Given the description of an element on the screen output the (x, y) to click on. 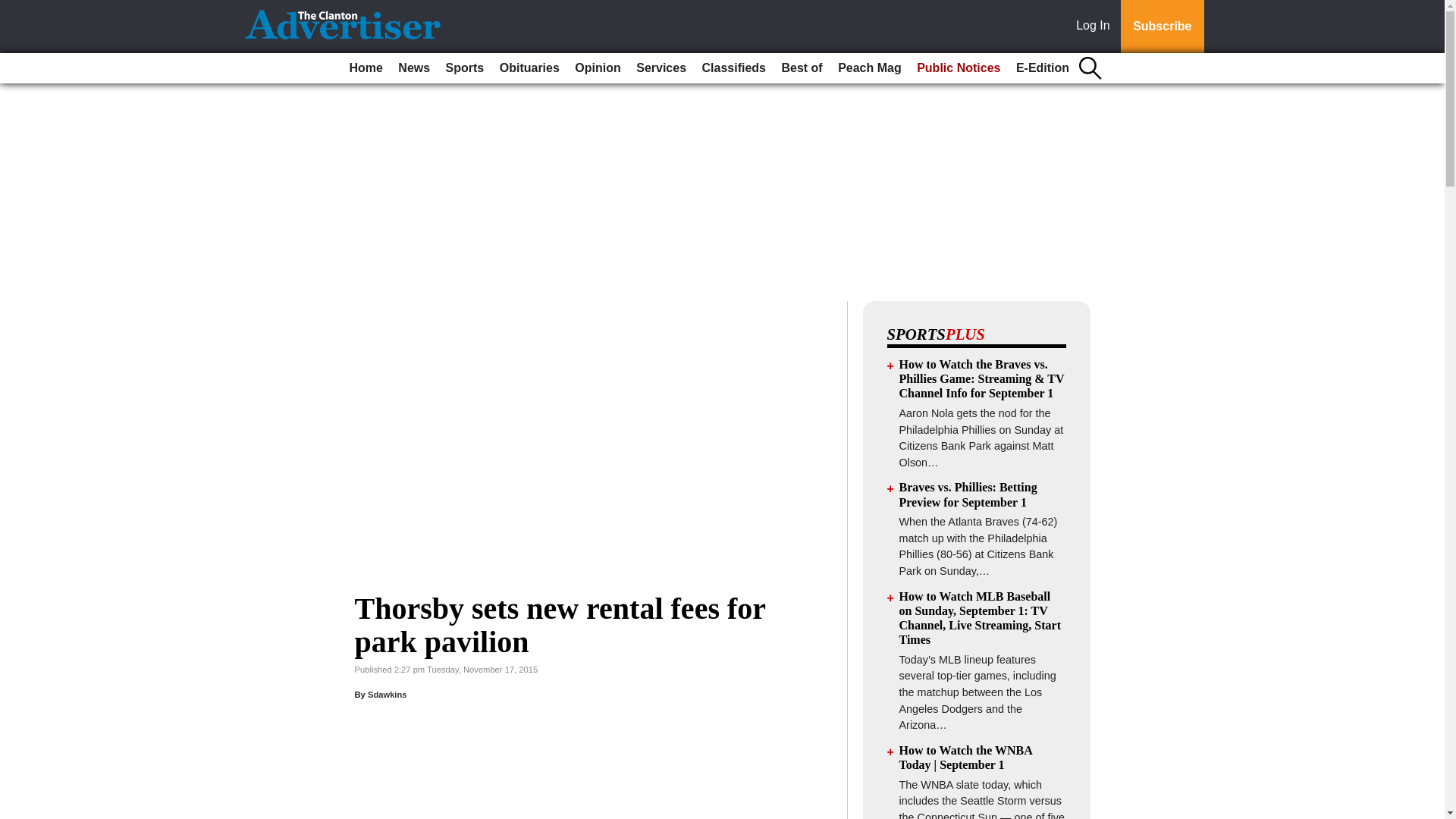
Braves vs. Phillies: Betting Preview for September 1 (967, 493)
Best of (801, 68)
News (413, 68)
Opinion (597, 68)
Subscribe (1162, 26)
Go (13, 9)
Home (365, 68)
Public Notices (958, 68)
Sdawkins (387, 694)
Services (661, 68)
